Given the description of an element on the screen output the (x, y) to click on. 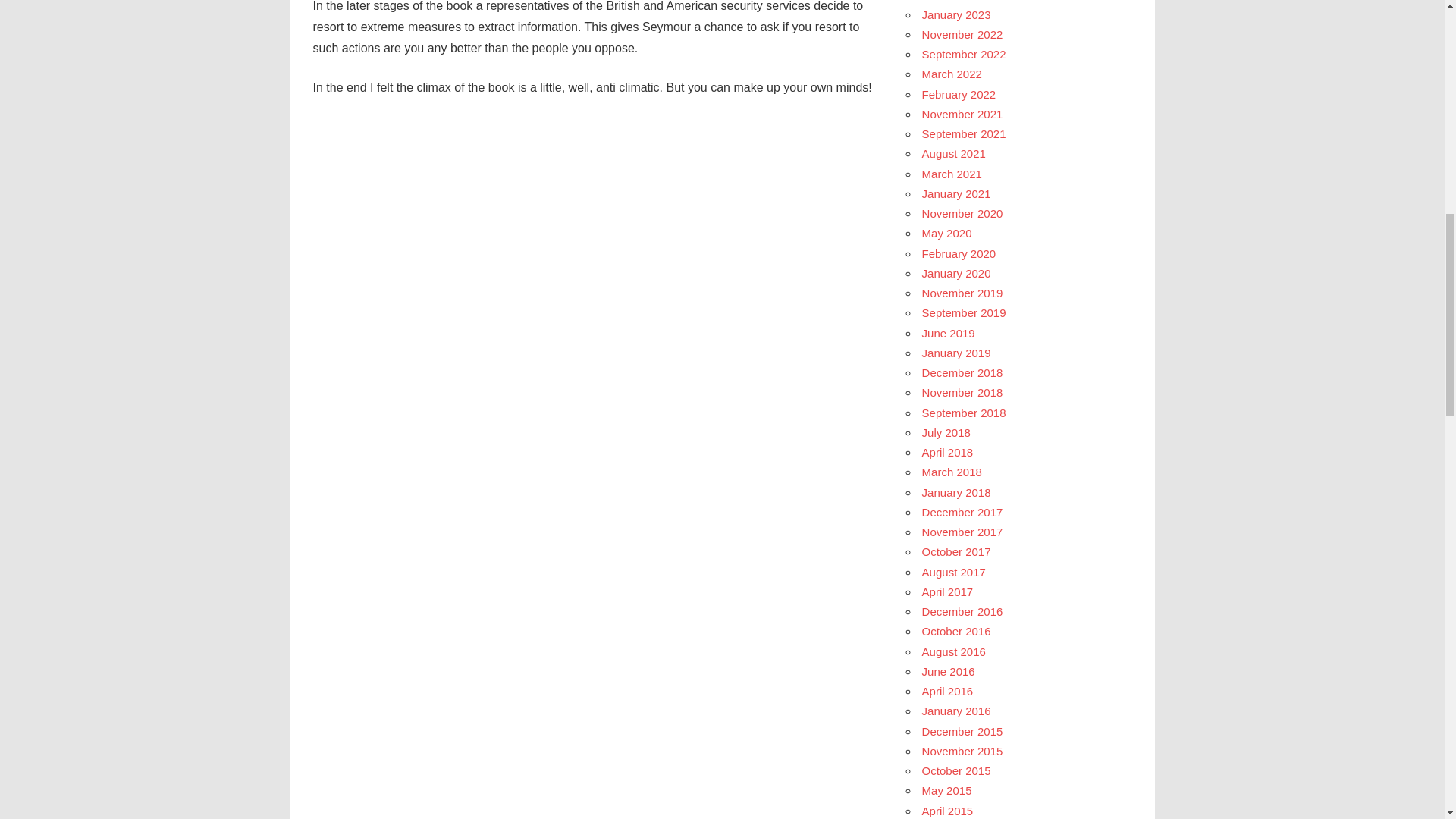
February 2020 (958, 253)
July 2018 (946, 431)
September 2018 (963, 412)
November 2021 (962, 113)
March 2018 (951, 472)
December 2018 (962, 372)
March 2022 (951, 73)
February 2022 (958, 93)
March 2021 (951, 173)
November 2019 (962, 292)
November 2022 (962, 33)
June 2019 (948, 332)
September 2019 (963, 312)
September 2022 (963, 53)
January 2021 (956, 193)
